Given the description of an element on the screen output the (x, y) to click on. 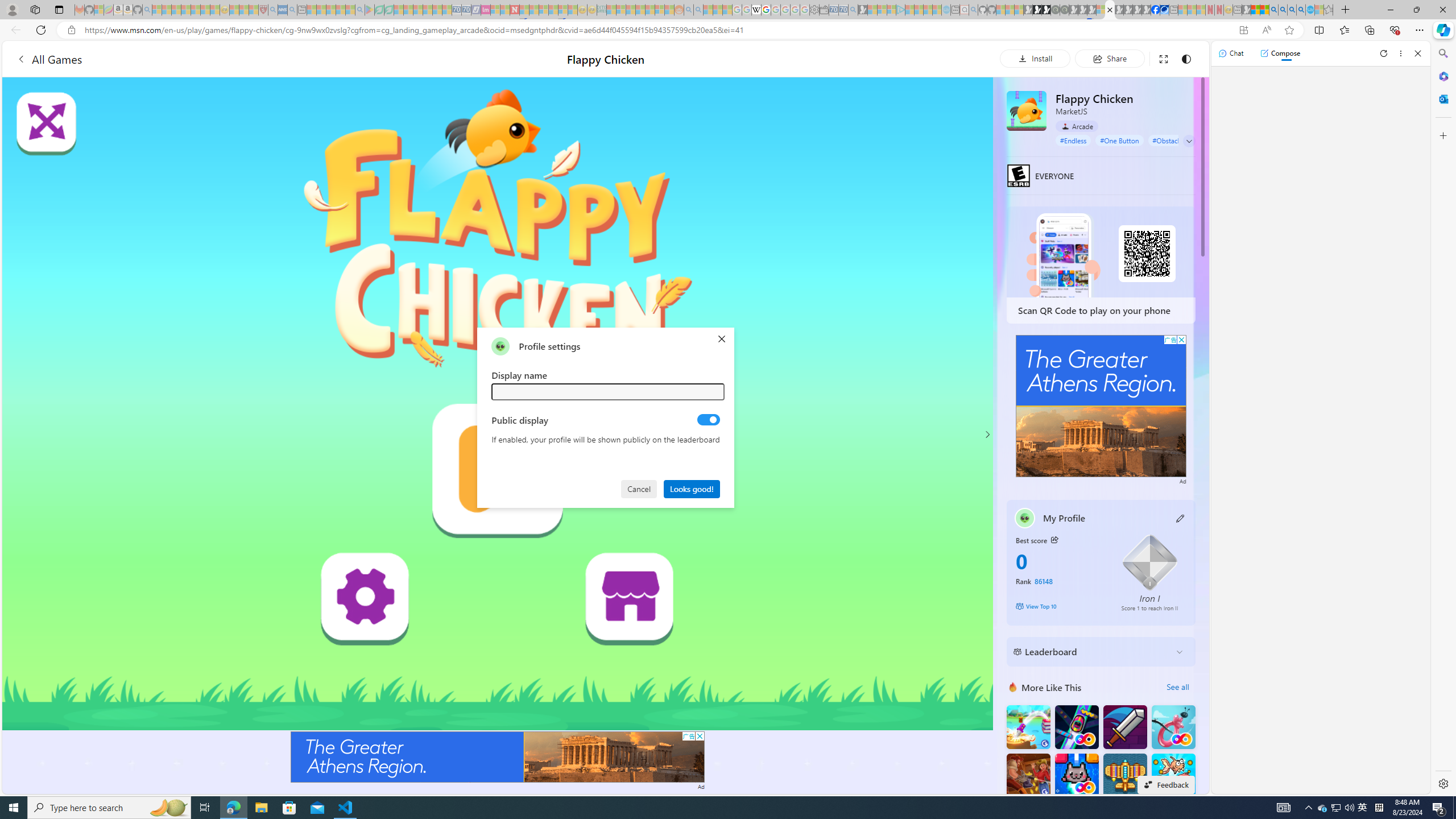
2009 Bing officially replaced Live Search on June 3 - Search (1283, 9)
Bumper Car FRVR (1076, 726)
Compose (1279, 52)
Share (1109, 58)
Looks good! (691, 488)
Bing AI - Search (1272, 9)
Arcade (1076, 125)
Install (1034, 58)
